Given the description of an element on the screen output the (x, y) to click on. 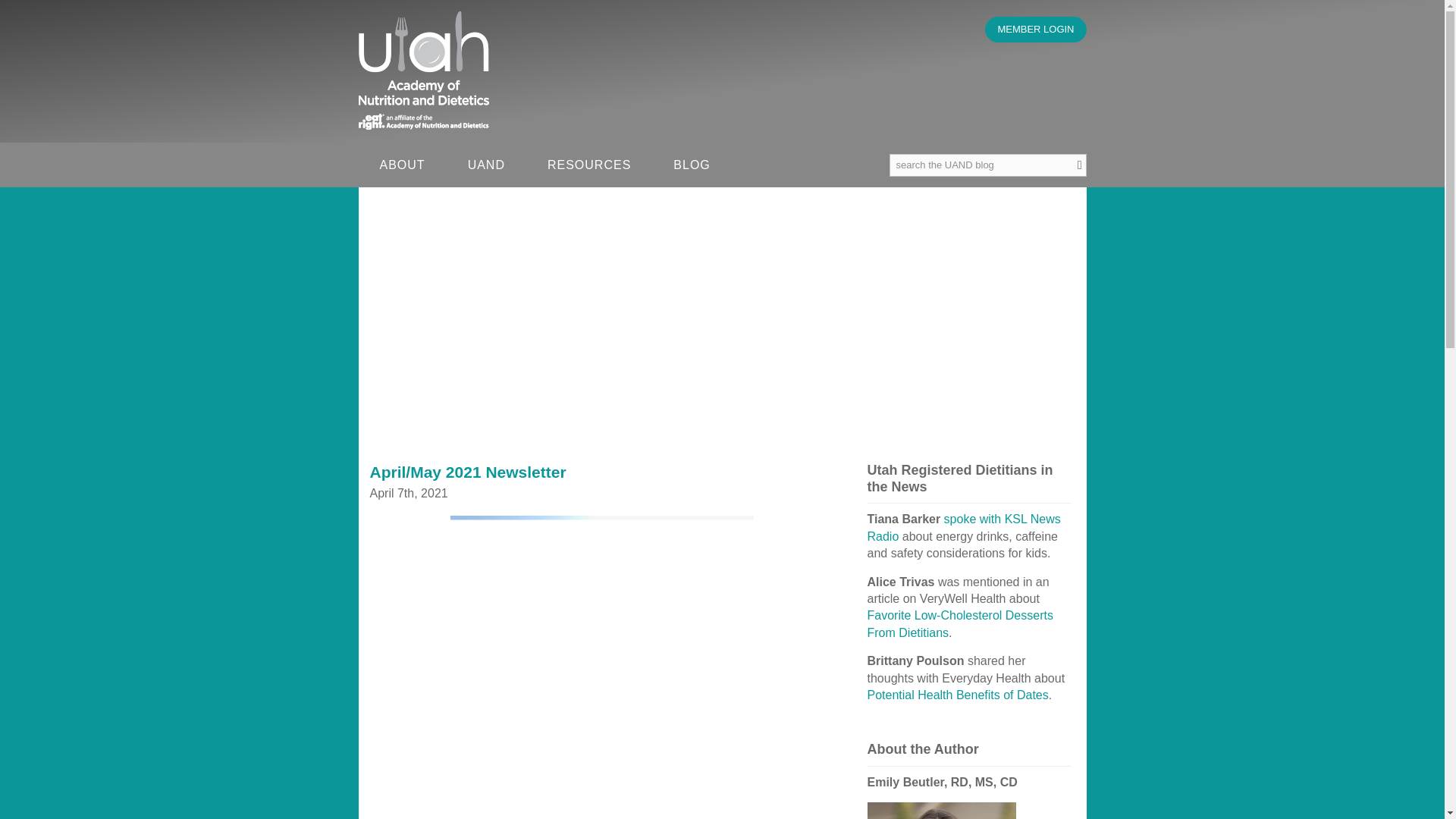
MEMBER LOGIN (1035, 29)
spoke with KSL News Radio (964, 527)
Favorite Low-Cholesterol Desserts From Dietitians (959, 623)
BLOG (691, 164)
Potential Health Benefits of Dates (957, 694)
ABOUT (401, 164)
UAND (485, 164)
RESOURCES (588, 164)
